Given the description of an element on the screen output the (x, y) to click on. 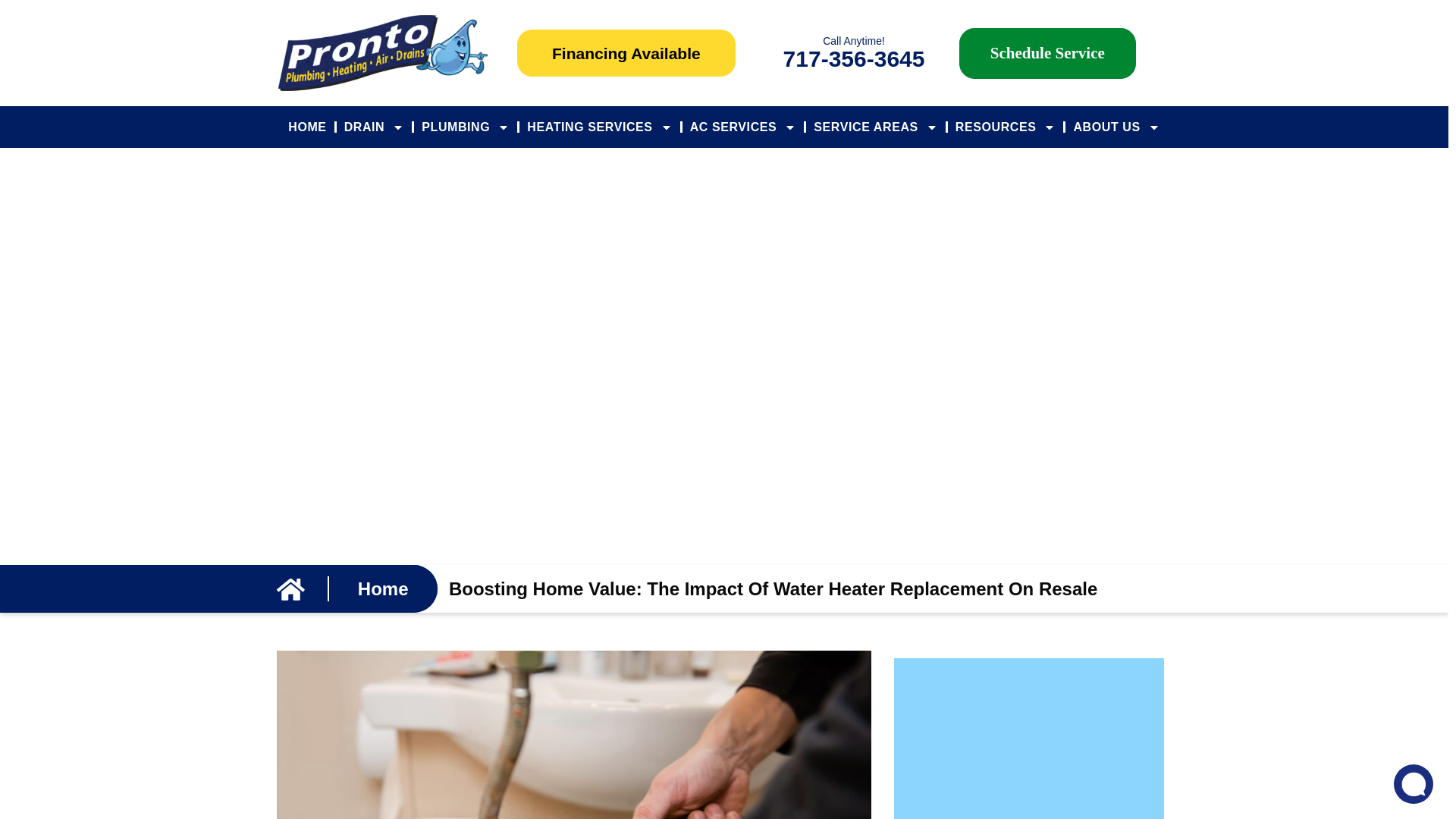
717-356-3645 (853, 58)
Schedule Service (1047, 52)
HEATING SERVICES (599, 126)
AC SERVICES (743, 126)
DRAIN (374, 126)
HOME (307, 126)
Financing Available (625, 52)
Call Anytime! (853, 40)
PLUMBING (464, 126)
